Given the description of an element on the screen output the (x, y) to click on. 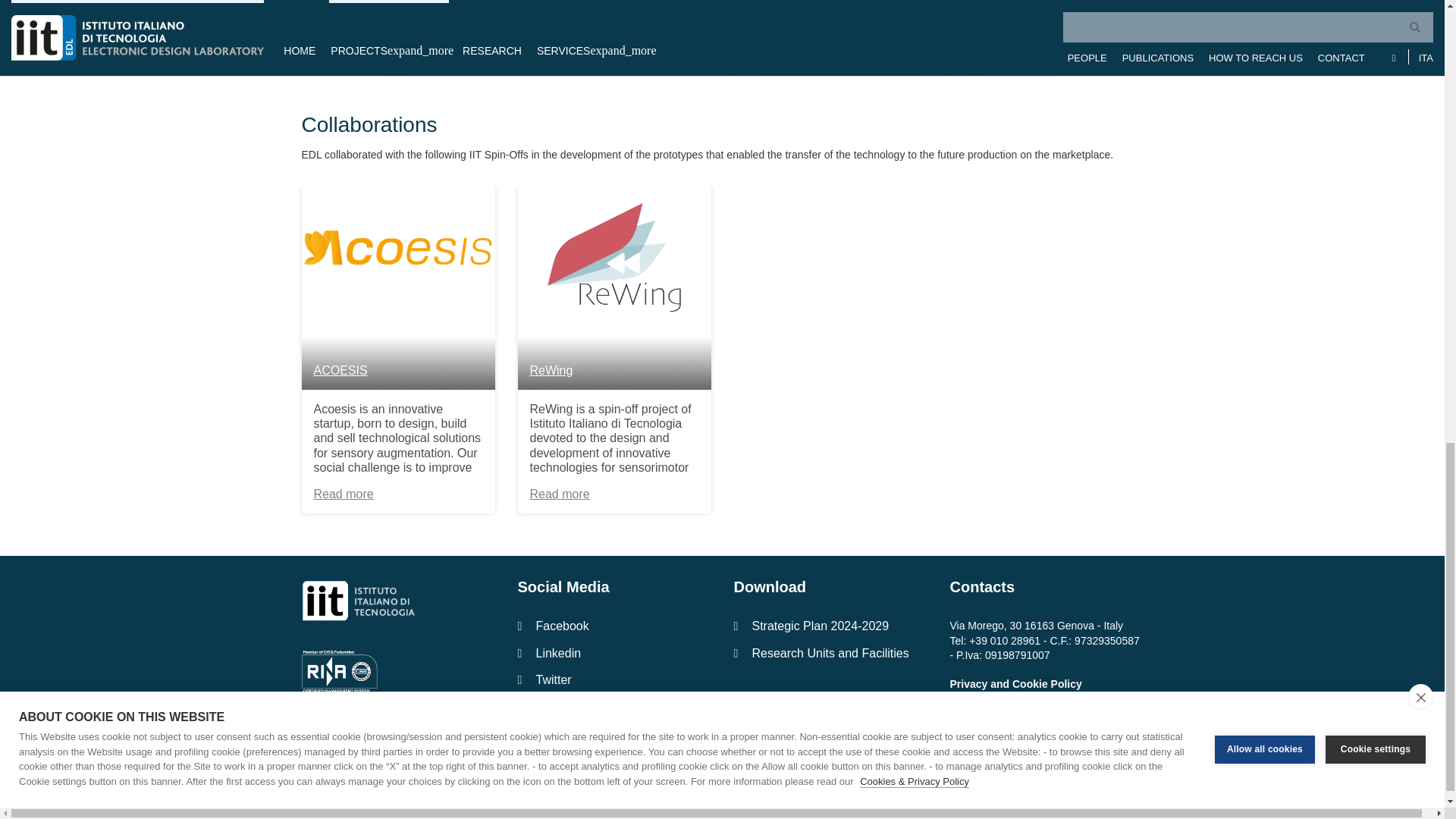
Facebook (613, 626)
